Given the description of an element on the screen output the (x, y) to click on. 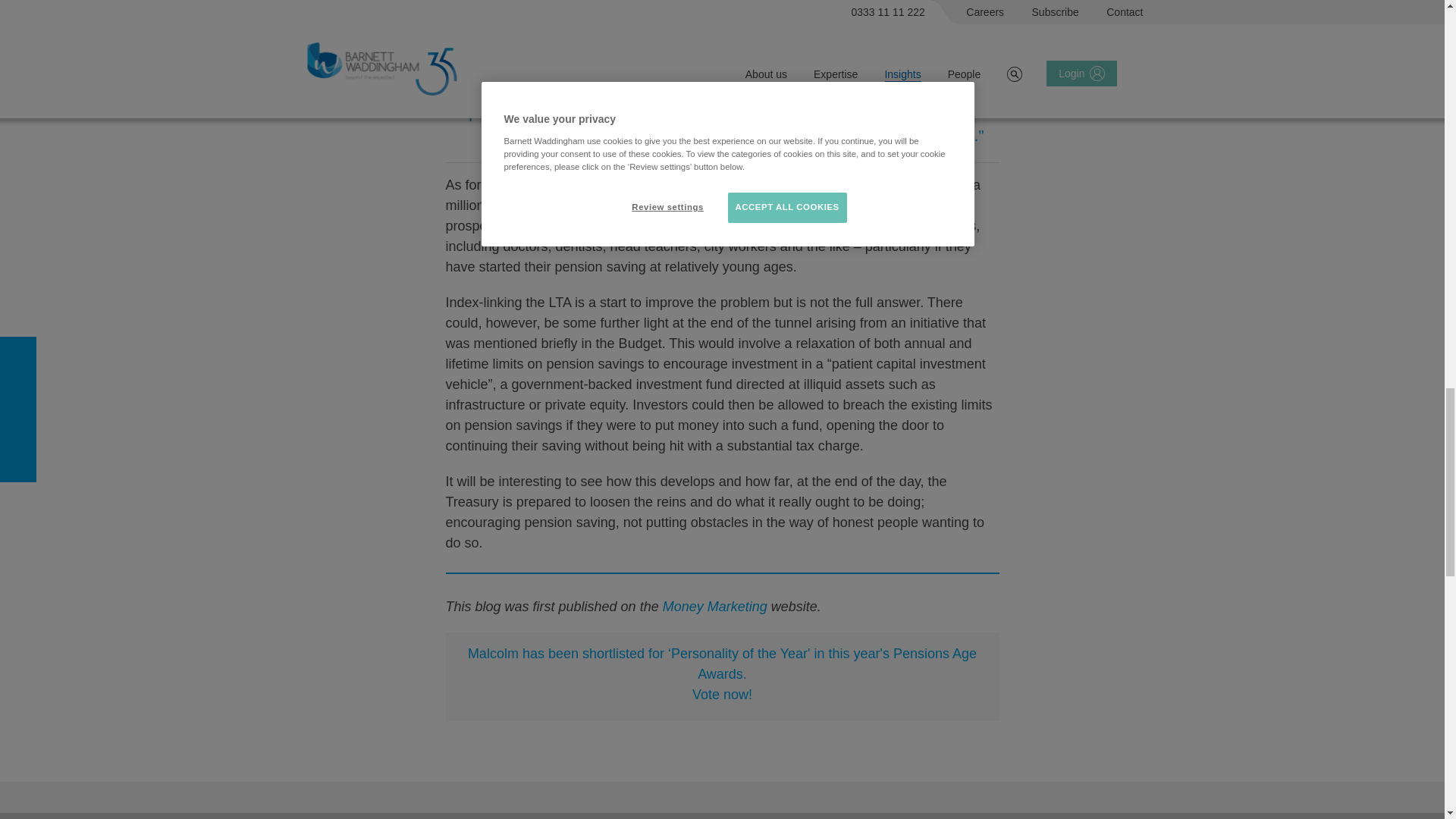
Personality of the Year (721, 673)
